Given the description of an element on the screen output the (x, y) to click on. 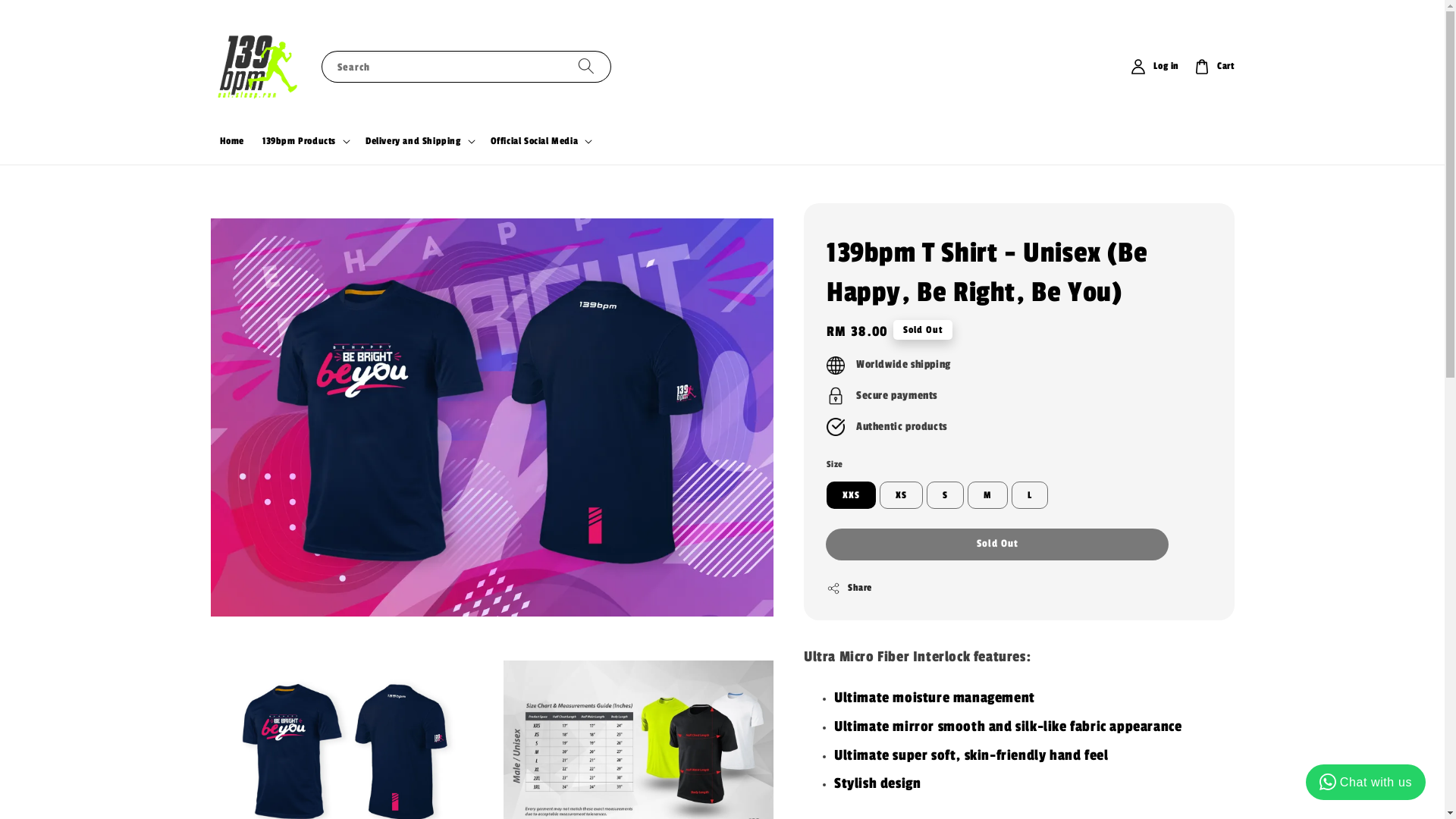
139bpm Products Element type: text (298, 140)
Sold Out Element type: text (996, 544)
Log in Element type: text (1154, 65)
Cart Element type: text (1213, 65)
https://www.139bpm.com/products/game-on-1-1 Element type: text (928, 690)
Home Element type: text (231, 140)
Official Social Media Element type: text (534, 140)
Delivery and Shipping Element type: text (413, 140)
true Element type: text (1102, 103)
